Given the description of an element on the screen output the (x, y) to click on. 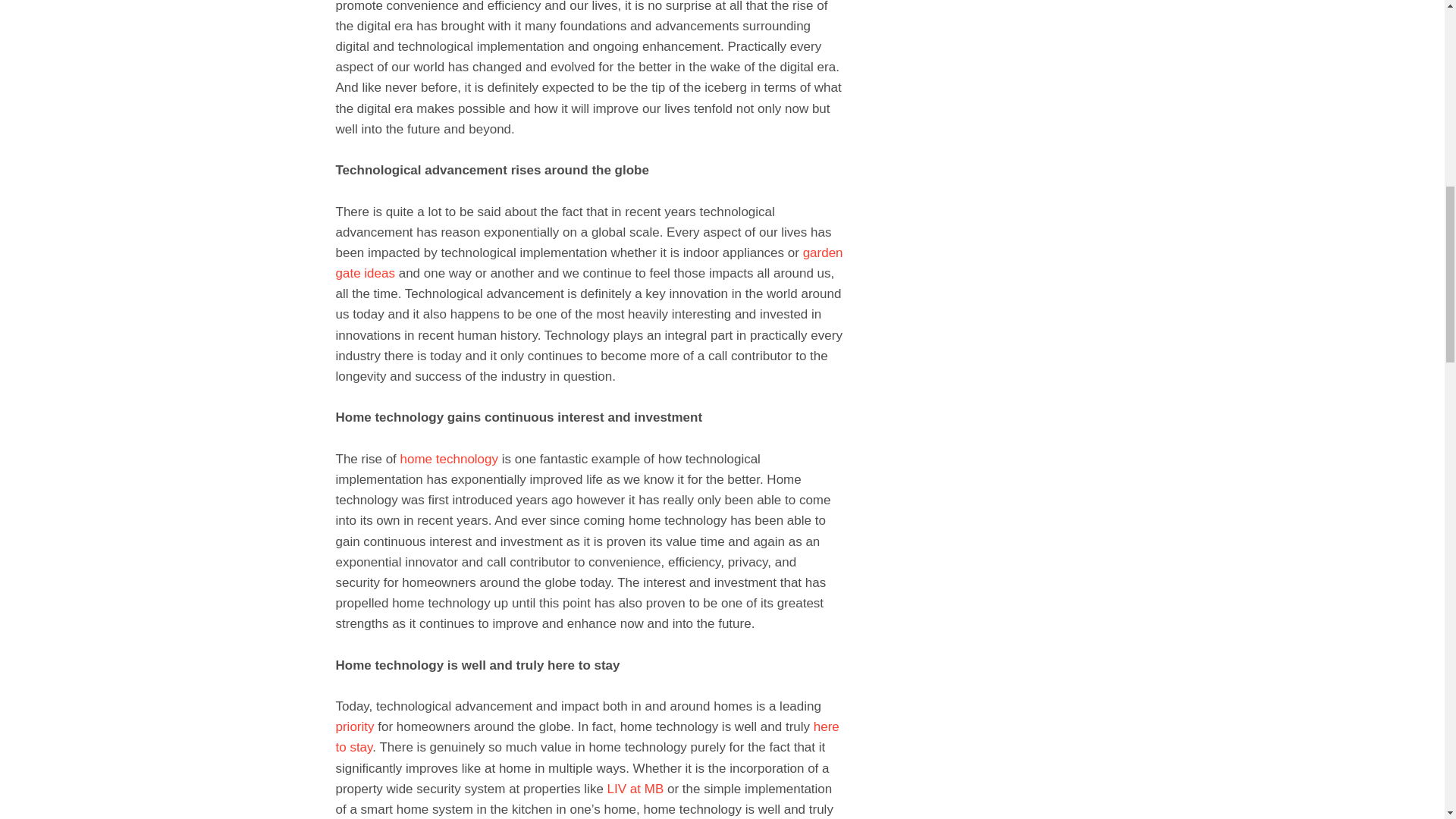
garden gate ideas (588, 262)
home technology (448, 459)
priority (354, 726)
